Given the description of an element on the screen output the (x, y) to click on. 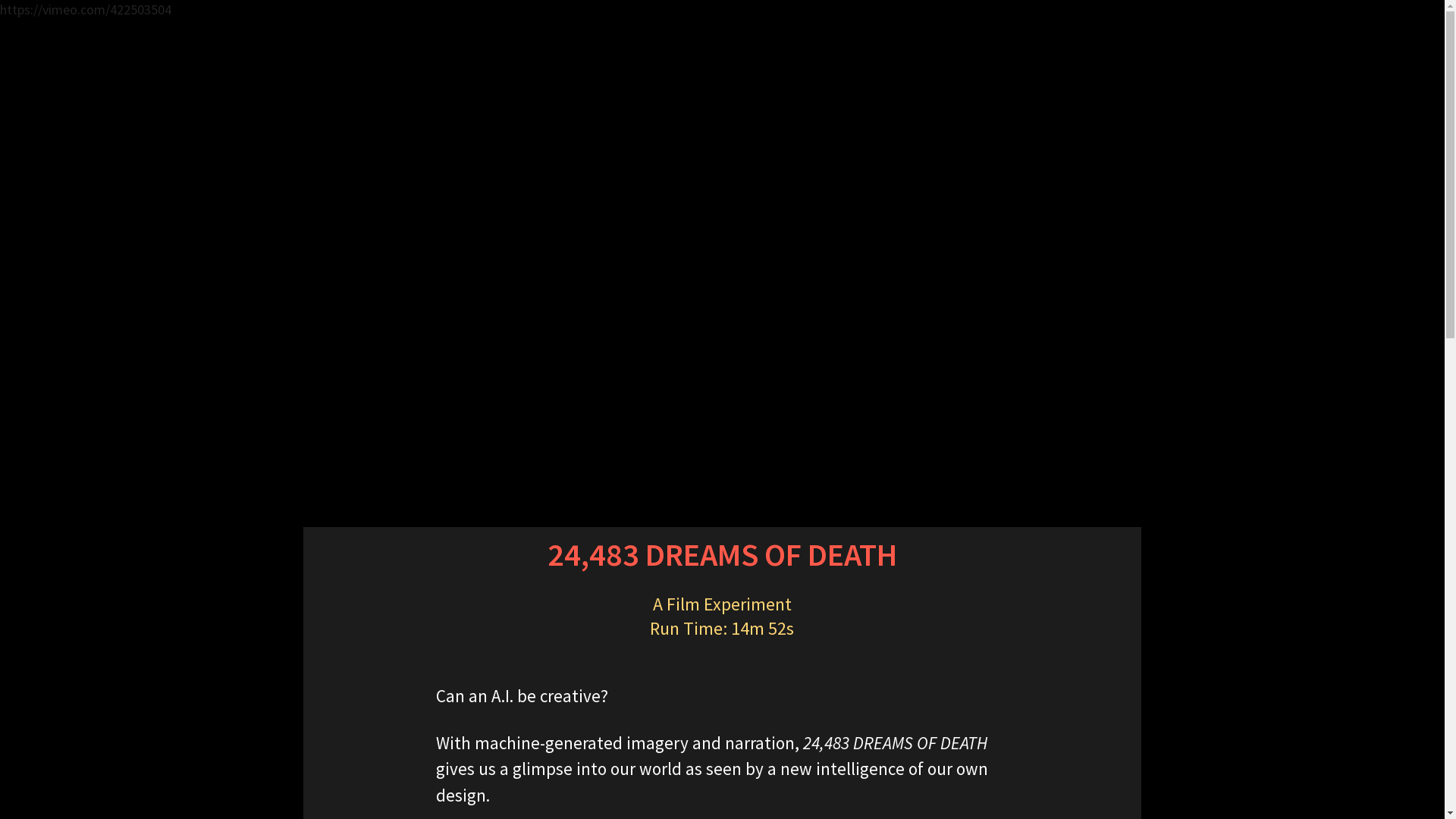
24,483 DREAMS OF DEATH Element type: hover (722, 278)
